Given the description of an element on the screen output the (x, y) to click on. 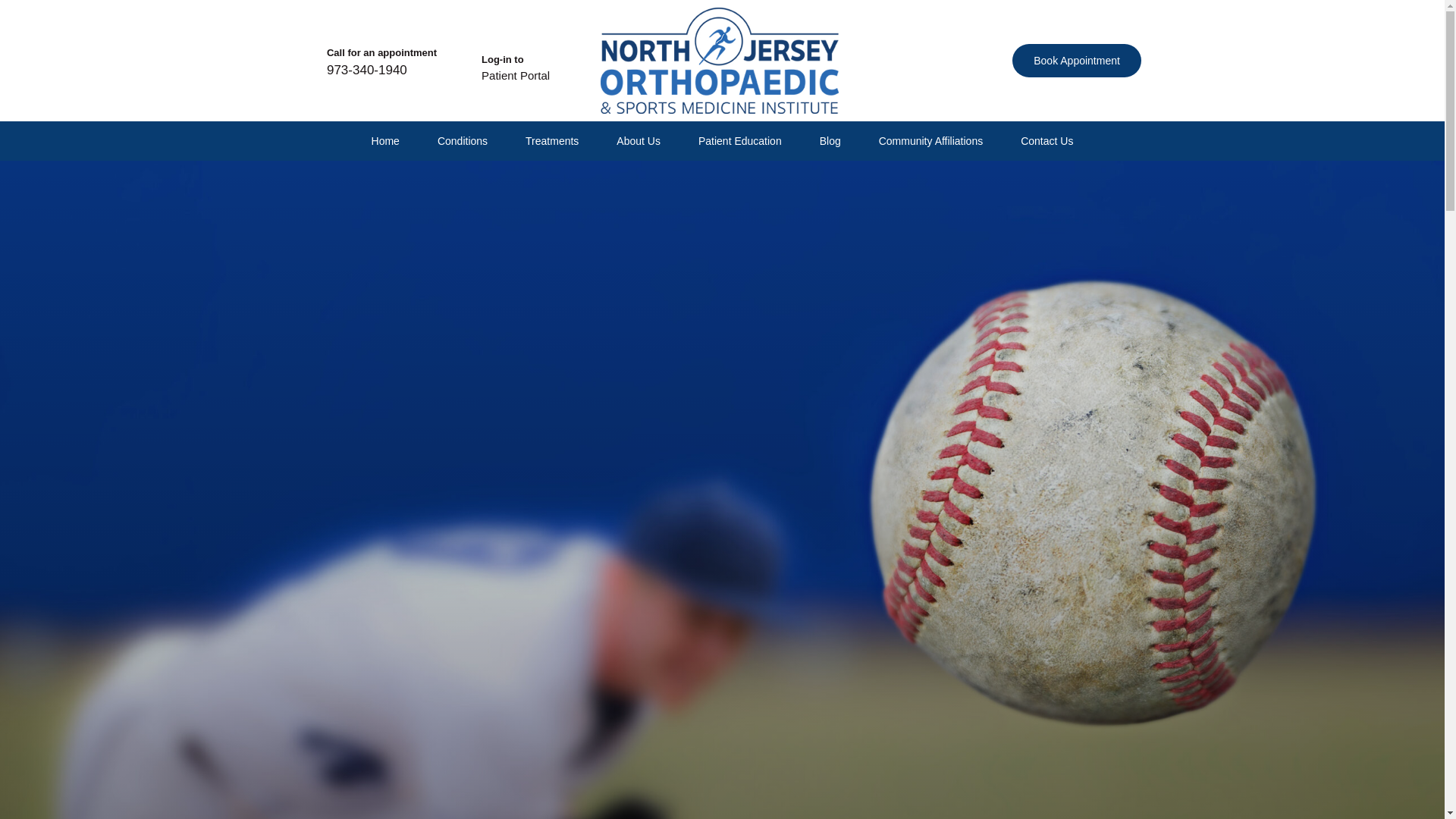
Log-in to (502, 59)
Home (385, 140)
Book Appointment (1076, 60)
Call for an appointment (381, 52)
973-340-1940 (366, 69)
Conditions (462, 140)
